Given the description of an element on the screen output the (x, y) to click on. 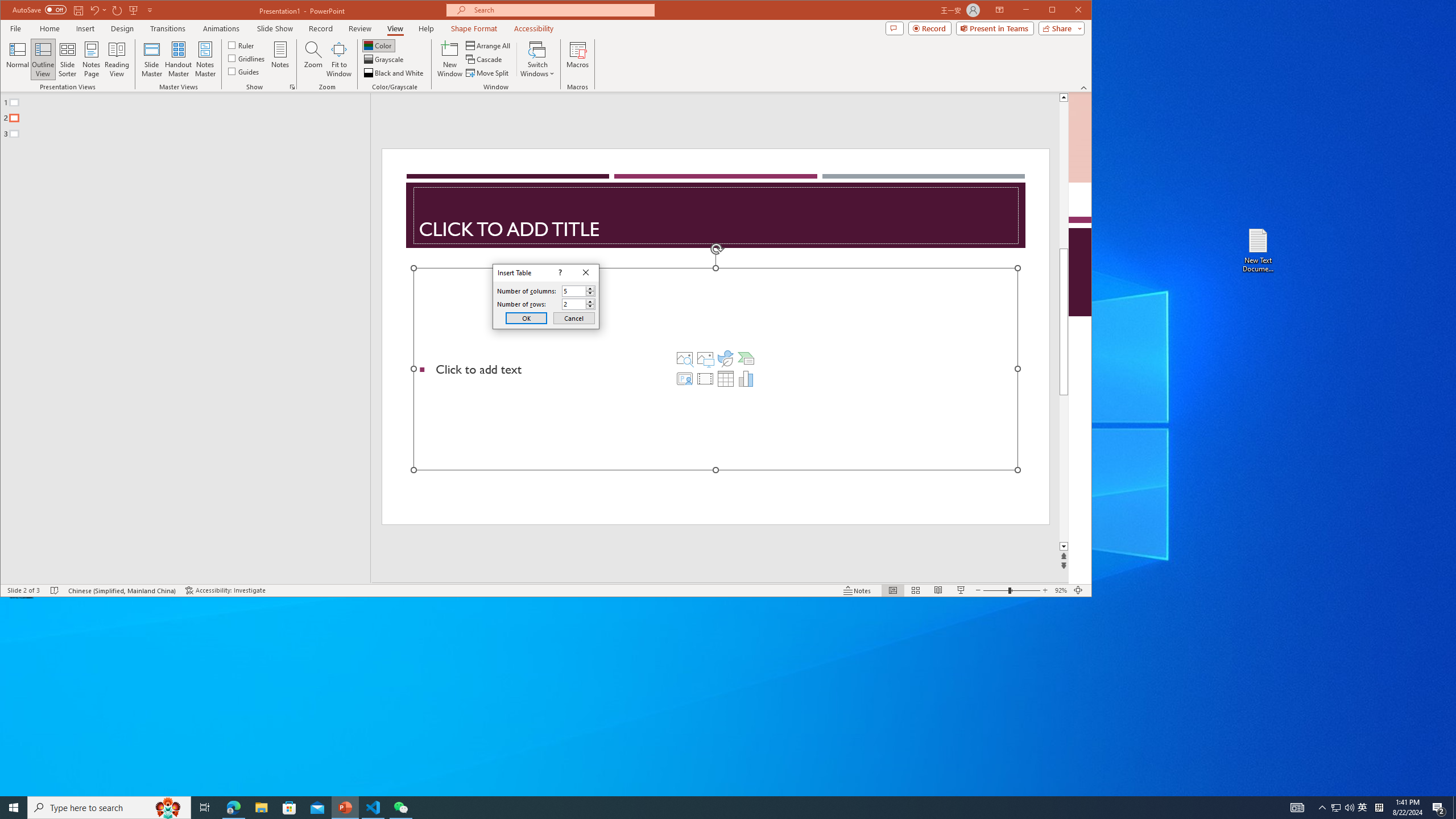
Ruler (241, 44)
Running applications (707, 807)
Number of rows (578, 303)
Slide Master (151, 59)
Zoom... (312, 59)
Switch Windows (537, 59)
Number of columns (573, 290)
Macros (576, 59)
Insert a SmartArt Graphic (745, 357)
